Given the description of an element on the screen output the (x, y) to click on. 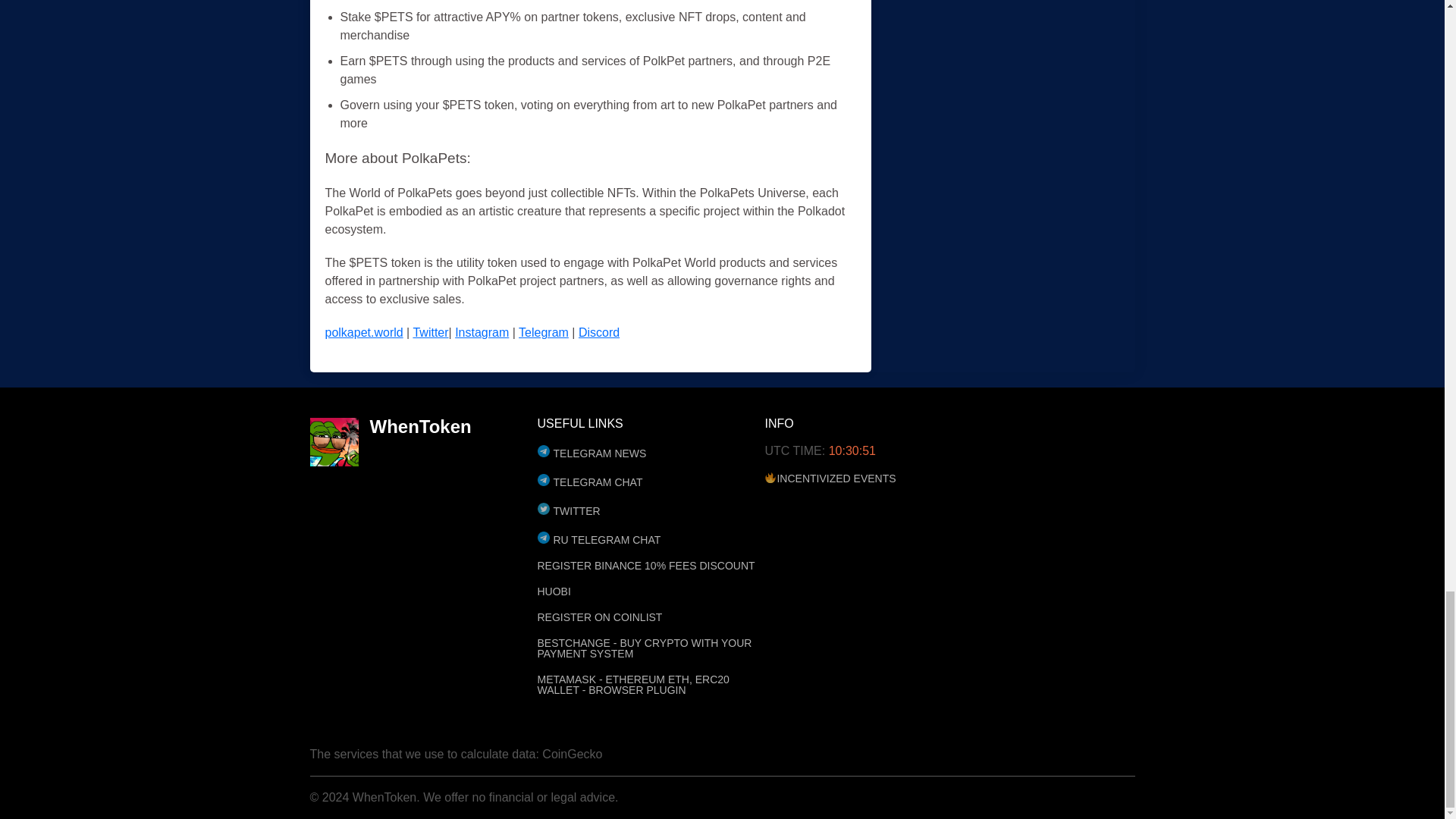
INCENTIVIZED EVENTS (877, 478)
Discord (599, 332)
Twitter (430, 332)
TELEGRAM CHAT (650, 480)
BESTCHANGE - BUY CRYPTO WITH YOUR PAYMENT SYSTEM (650, 648)
HUOBI (650, 591)
Telegram (543, 332)
polkapet.world (363, 332)
METAMASK - ETHEREUM ETH, ERC20 WALLET - BROWSER PLUGIN (650, 684)
TWITTER (650, 509)
RU TELEGRAM CHAT (650, 538)
TELEGRAM NEWS (650, 451)
REGISTER ON COINLIST (650, 616)
Instagram (481, 332)
